Given the description of an element on the screen output the (x, y) to click on. 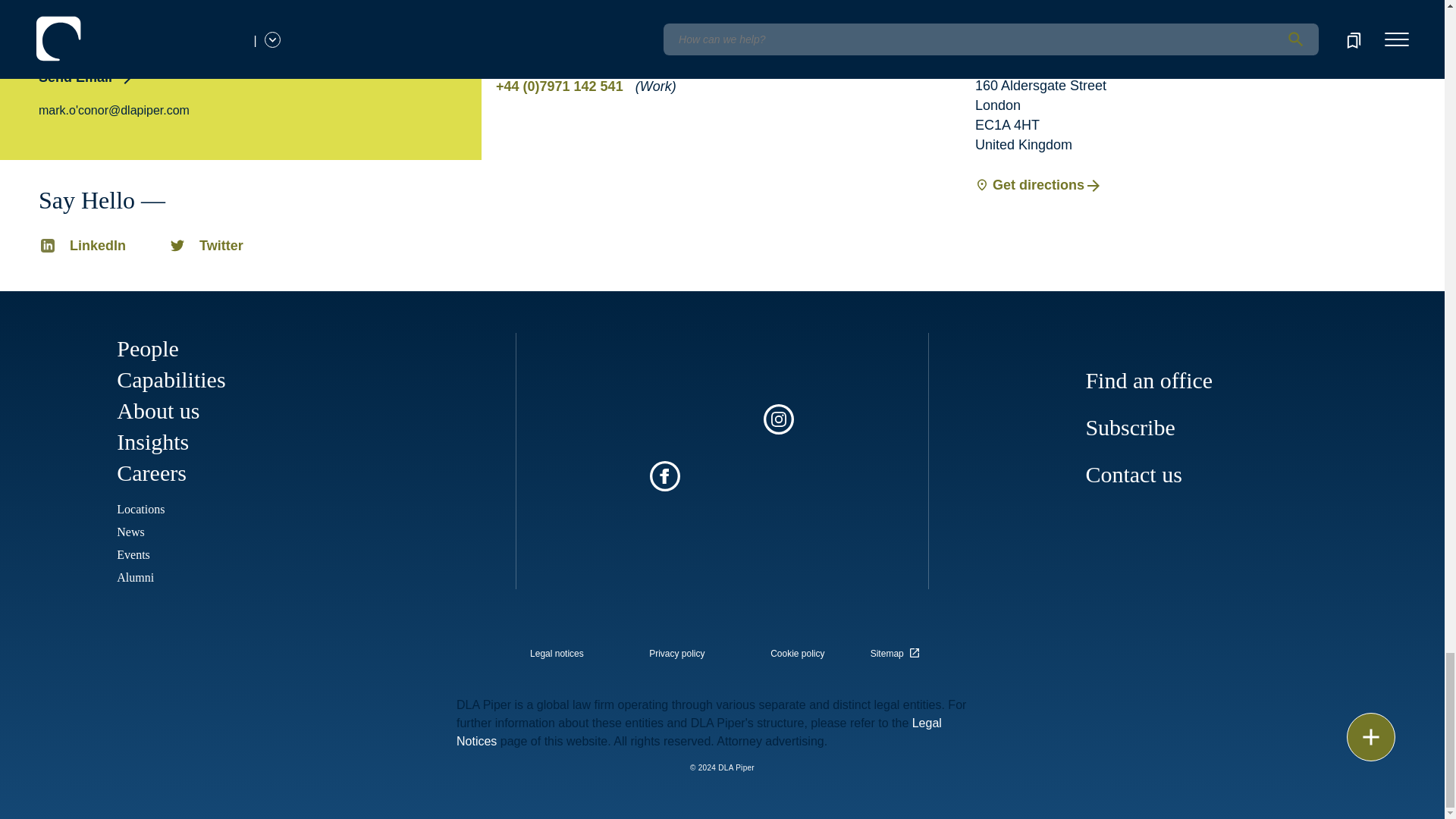
external (897, 649)
internal (676, 653)
internal (557, 653)
internal (798, 653)
